Given the description of an element on the screen output the (x, y) to click on. 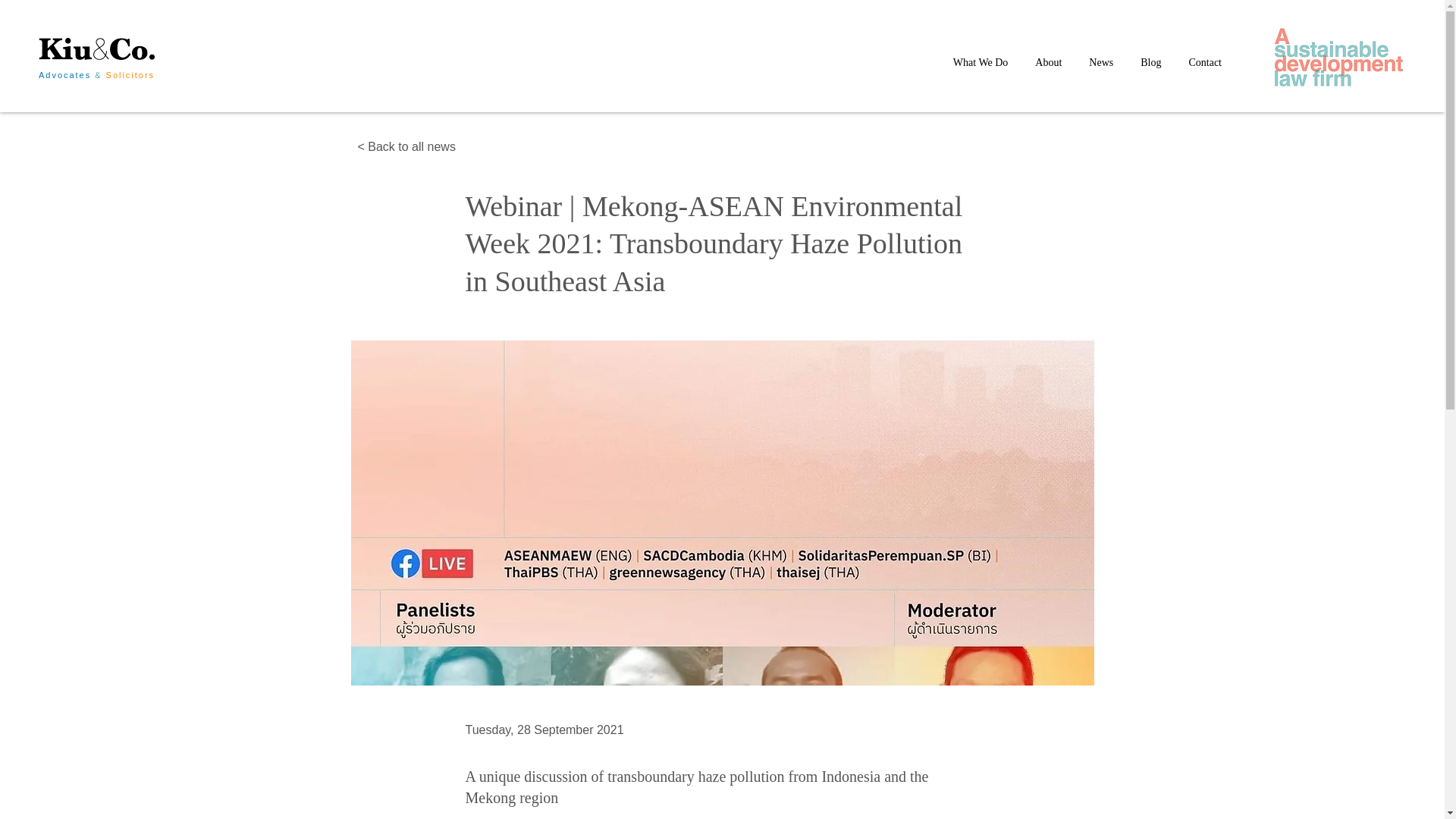
Contact (1204, 63)
About (1048, 63)
Blog (1150, 63)
News (1101, 63)
What We Do (979, 63)
